Given the description of an element on the screen output the (x, y) to click on. 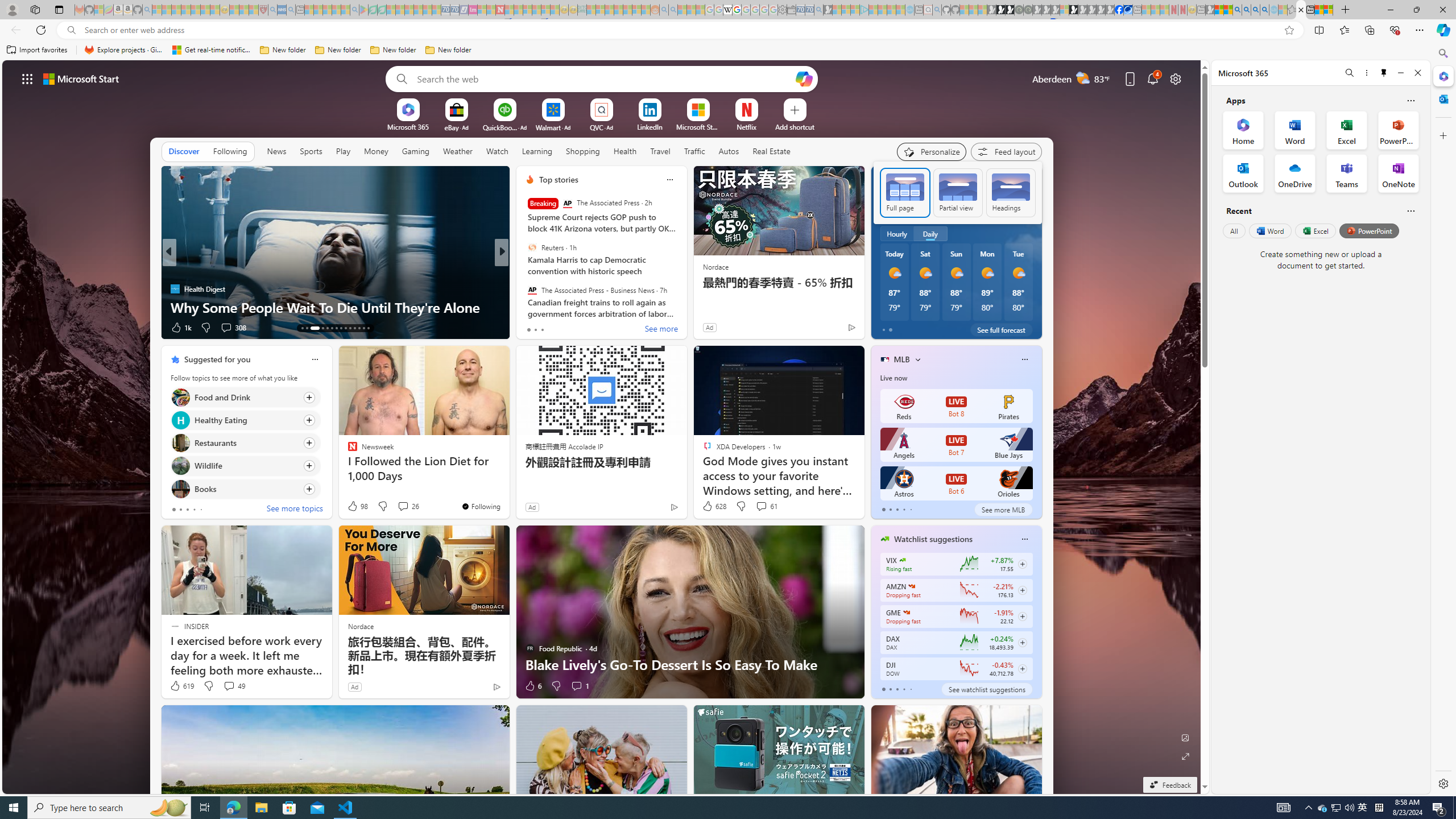
Health (624, 151)
View comments 61 Comment (766, 505)
Cheap Car Rentals - Save70.com - Sleeping (809, 9)
Robert H. Shmerling, MD - Harvard Health - Sleeping (263, 9)
Click to follow topic Wildlife (245, 465)
Headings (1010, 192)
Favorites bar (715, 49)
Eggs All Ways (524, 288)
My location (922, 179)
